Given the description of an element on the screen output the (x, y) to click on. 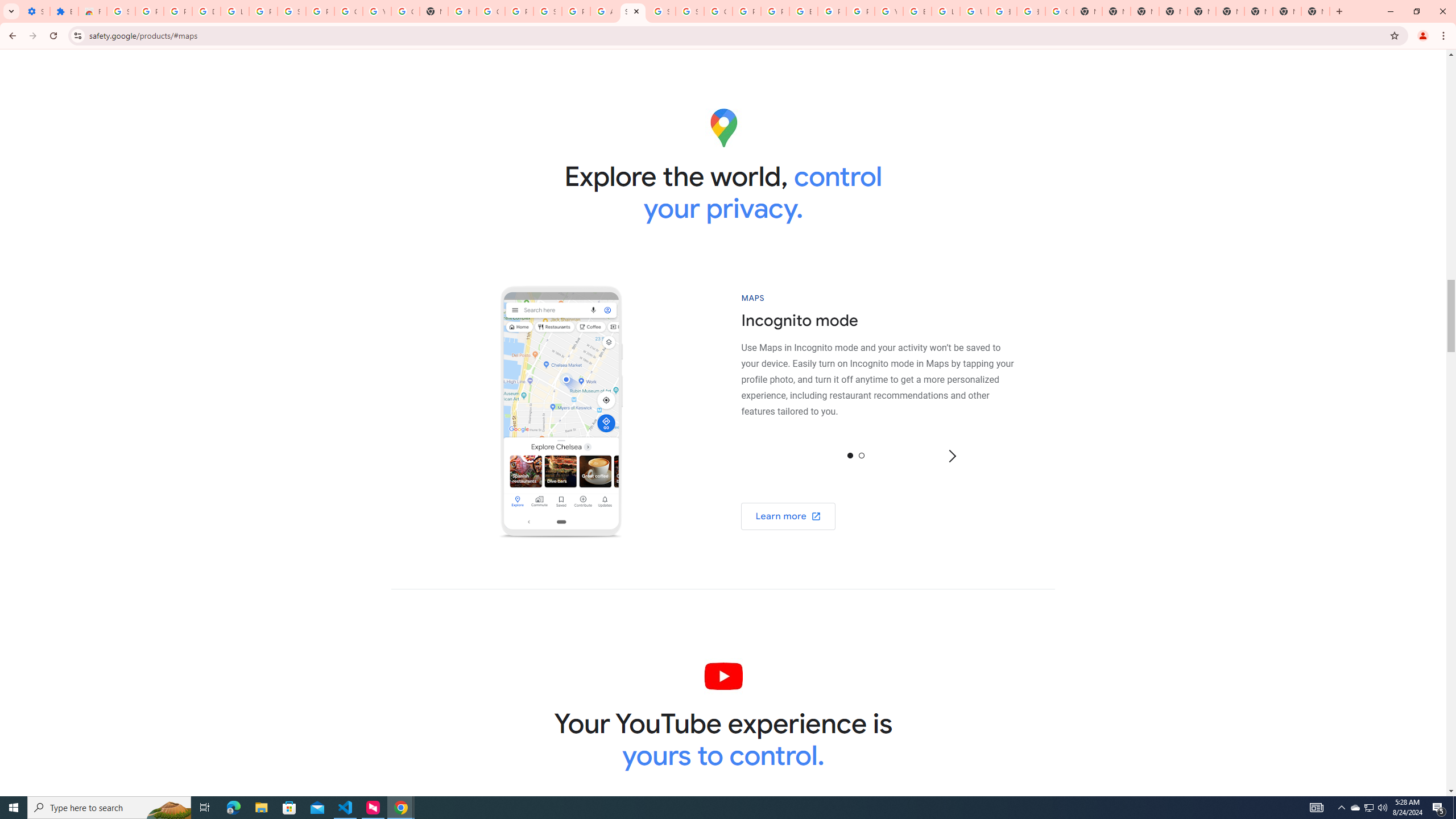
Sign in - Google Accounts (291, 11)
